Given the description of an element on the screen output the (x, y) to click on. 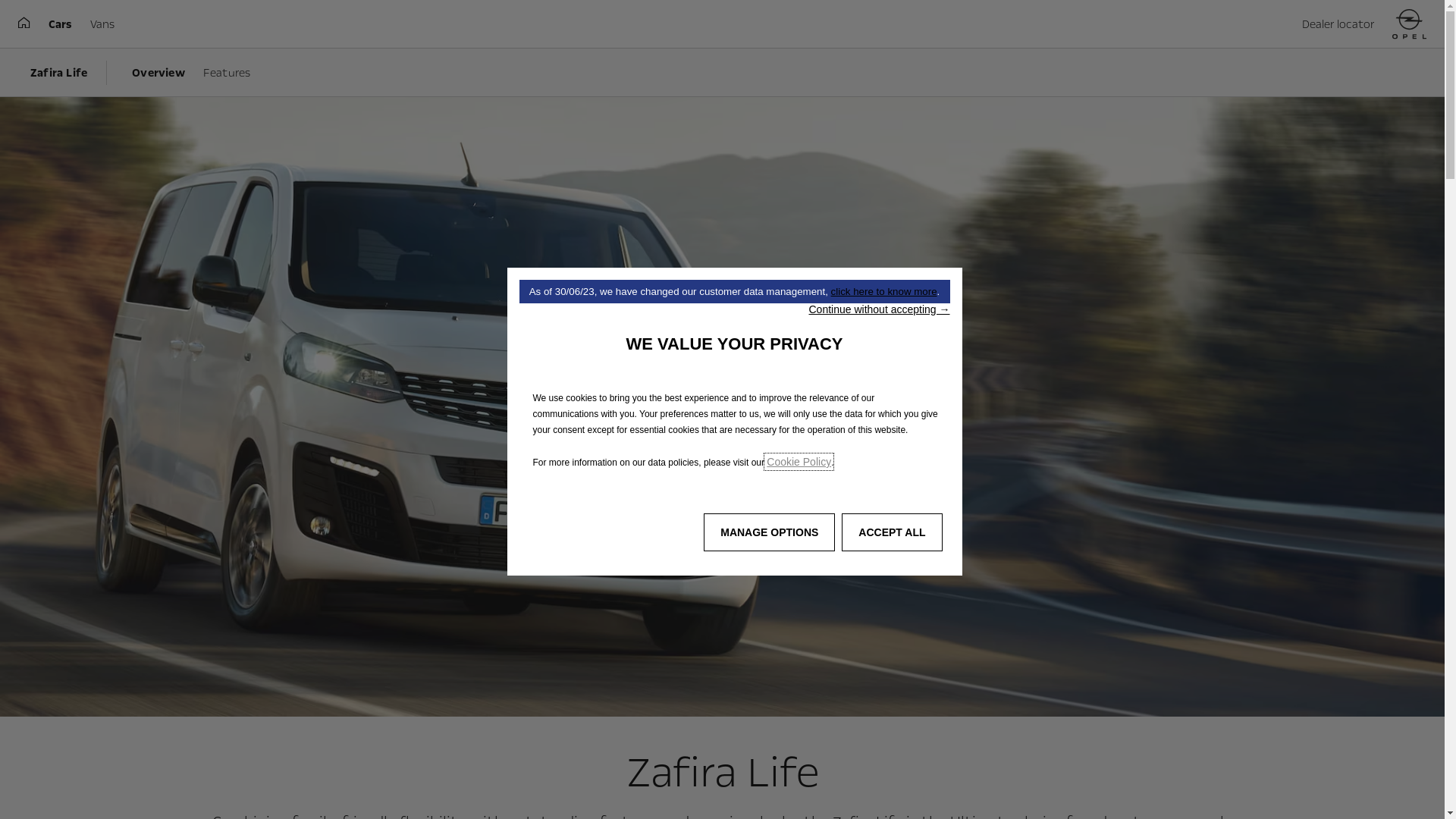
Vans Element type: text (102, 23)
Dealer locator Element type: text (1337, 23)
Home Element type: hover (1409, 24)
MANAGE OPTIONS Element type: text (768, 532)
Cookie Policy Element type: text (798, 461)
click here to know more Element type: text (884, 291)
Overview Element type: text (158, 72)
Features Element type: text (227, 72)
Zafira Life Element type: text (62, 72)
ACCEPT ALL Element type: text (891, 532)
Cars Element type: text (60, 23)
